Given the description of an element on the screen output the (x, y) to click on. 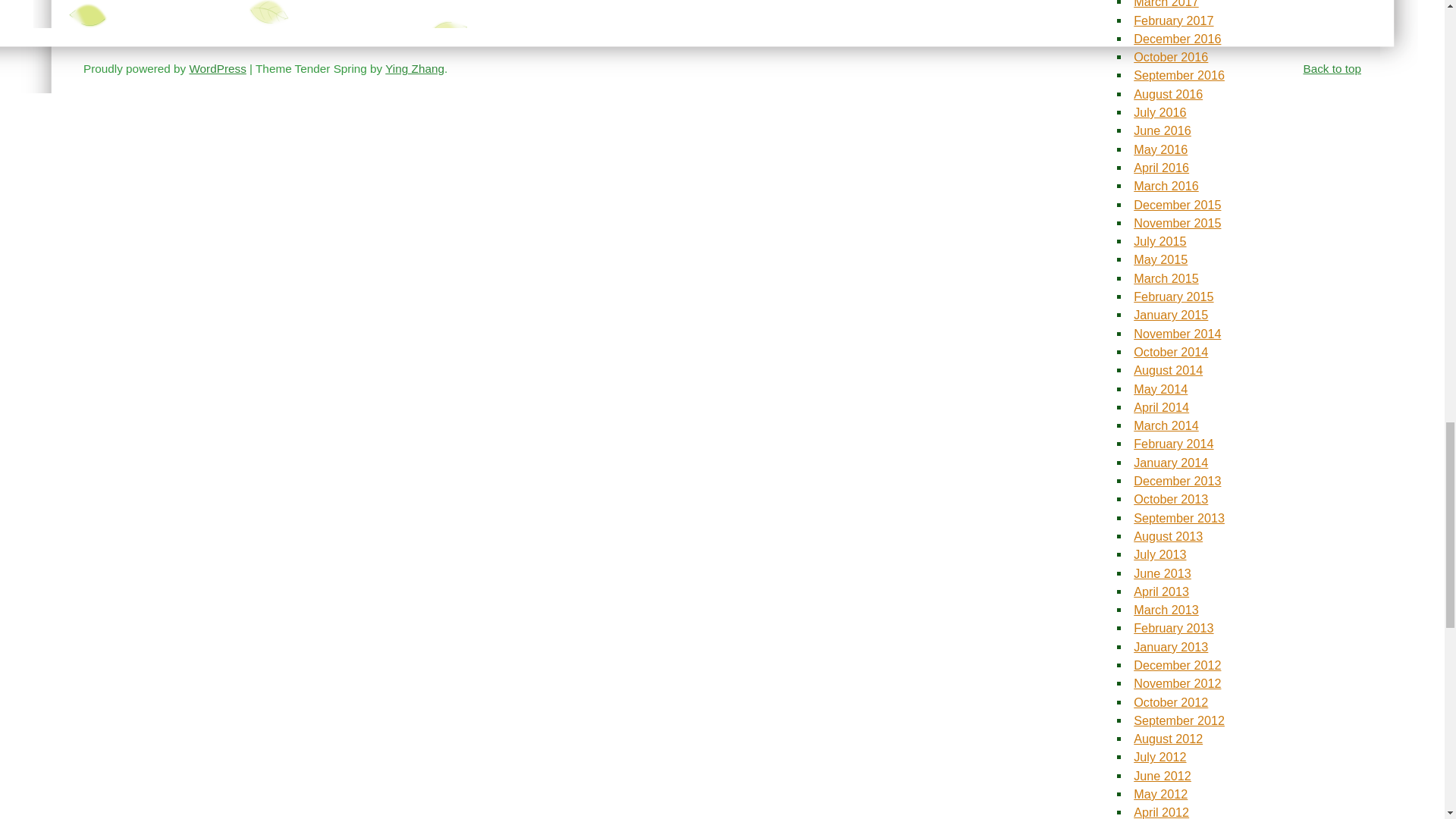
A Semantic Personal Publishing Platform (217, 68)
